Given the description of an element on the screen output the (x, y) to click on. 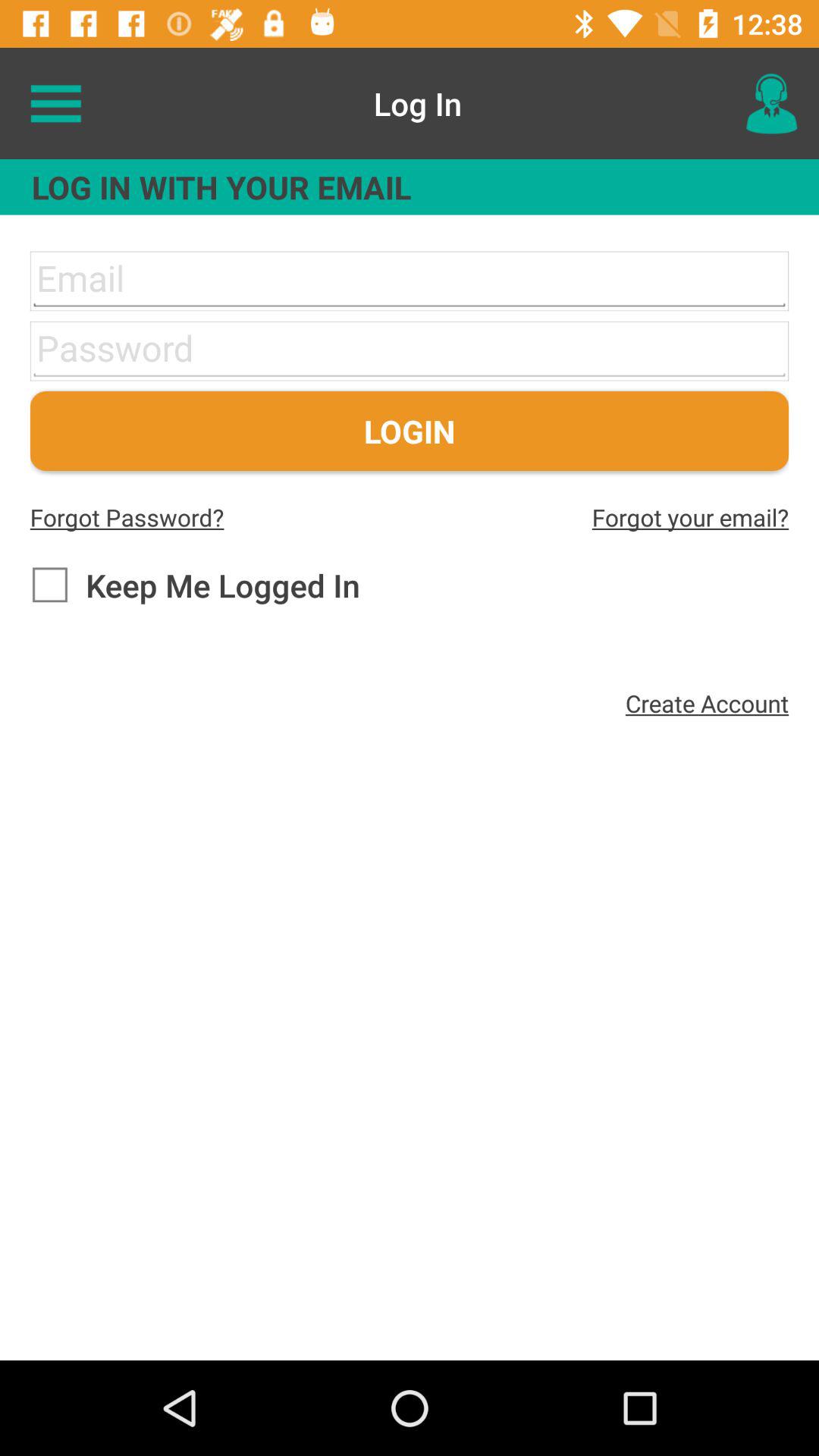
select icon to the right of the log in icon (771, 103)
